Given the description of an element on the screen output the (x, y) to click on. 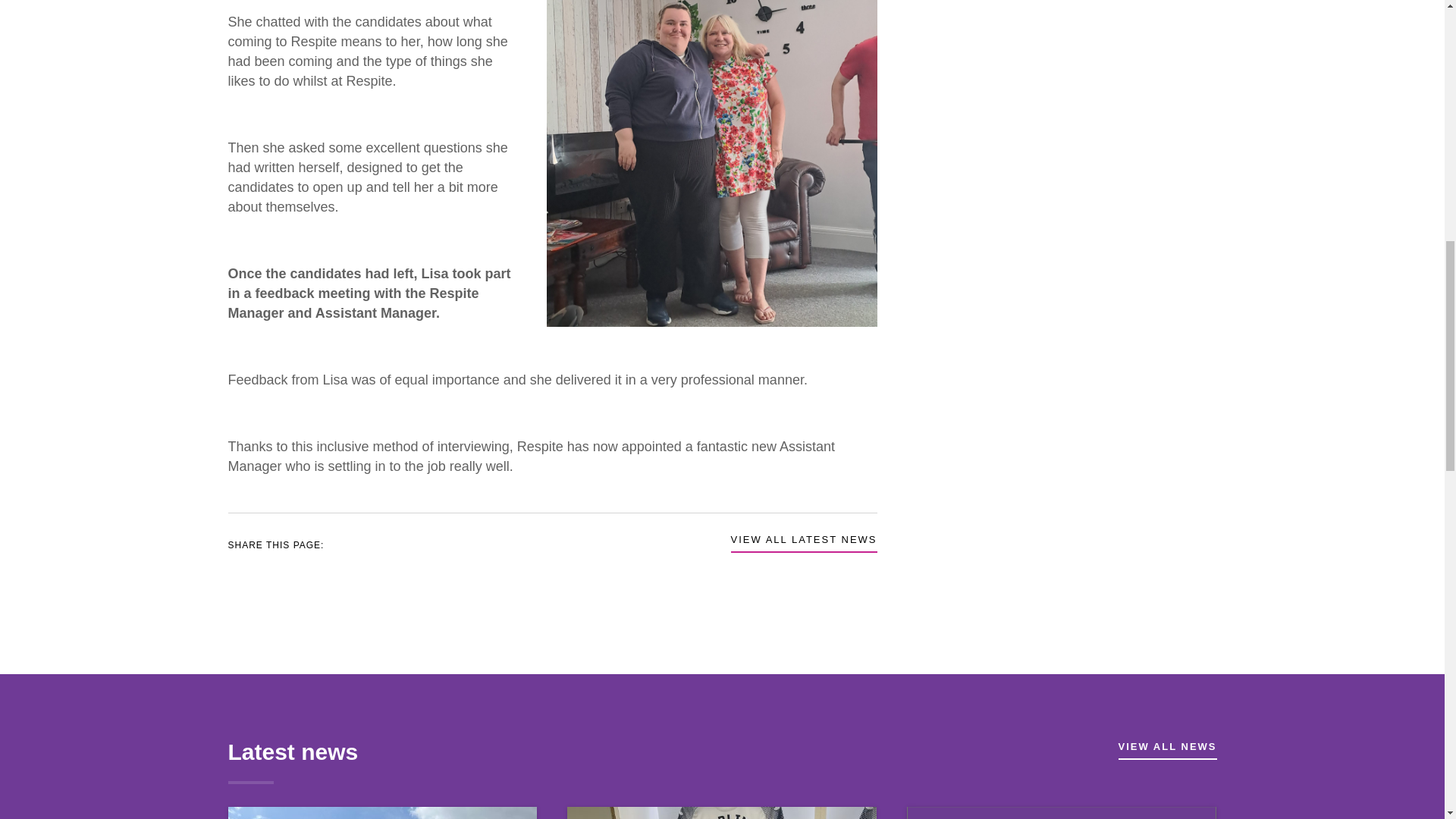
View - Community Family Fun Day in Neath Port Talbot (382, 812)
View all news (1166, 749)
Share on Twitter (348, 542)
View - An Excellent rating in Bridgend (1061, 812)
Share on Facebook (372, 542)
